Given the description of an element on the screen output the (x, y) to click on. 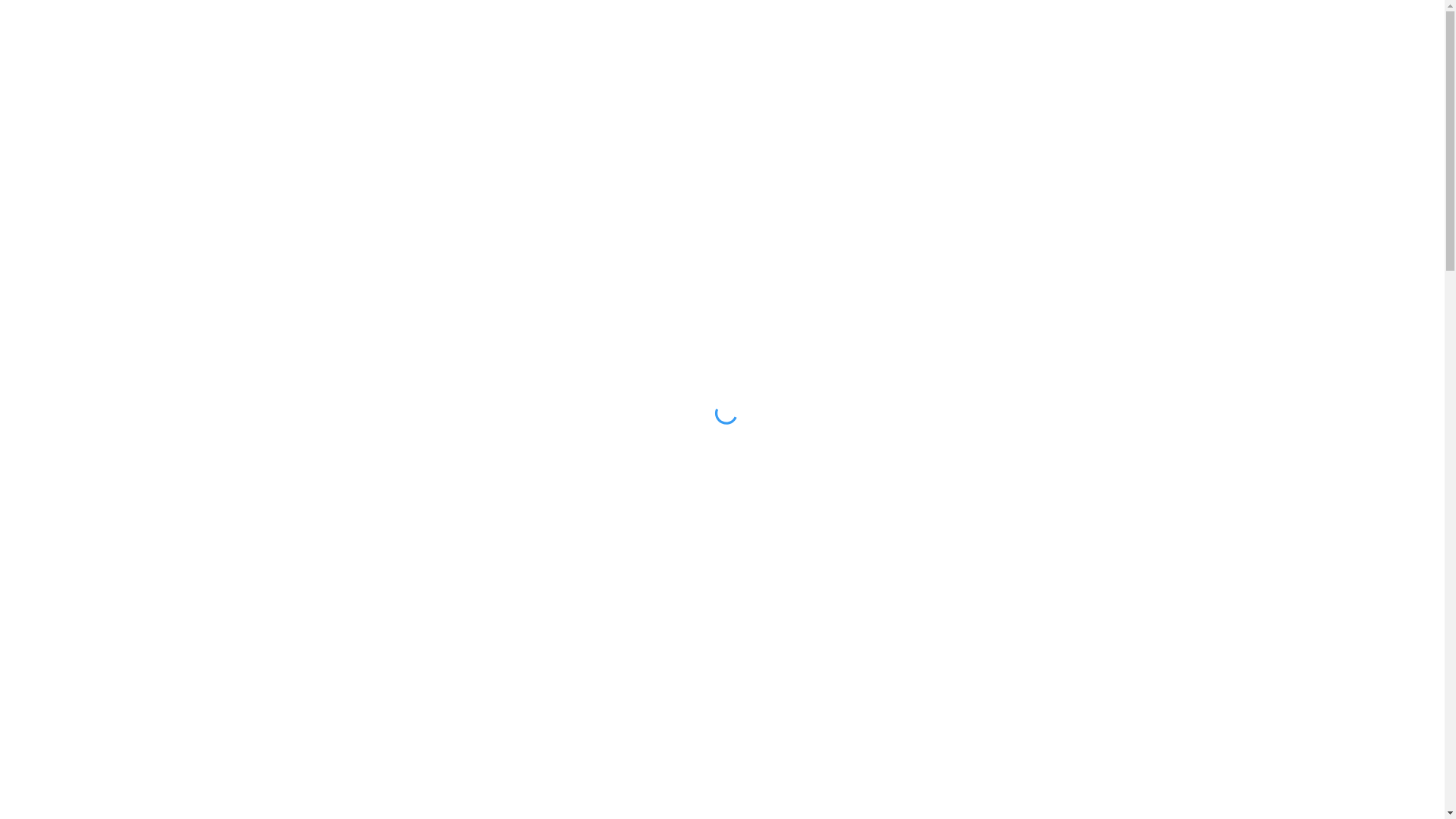
INDUSTRIES Element type: text (718, 34)
SERVICES Element type: text (614, 34)
HOME Element type: text (534, 34)
CONTACT Element type: text (908, 34)
647.346.3000 Element type: text (1086, 33)
Apply now Element type: text (1038, 547)
CAREERS Element type: text (821, 34)
